Given the description of an element on the screen output the (x, y) to click on. 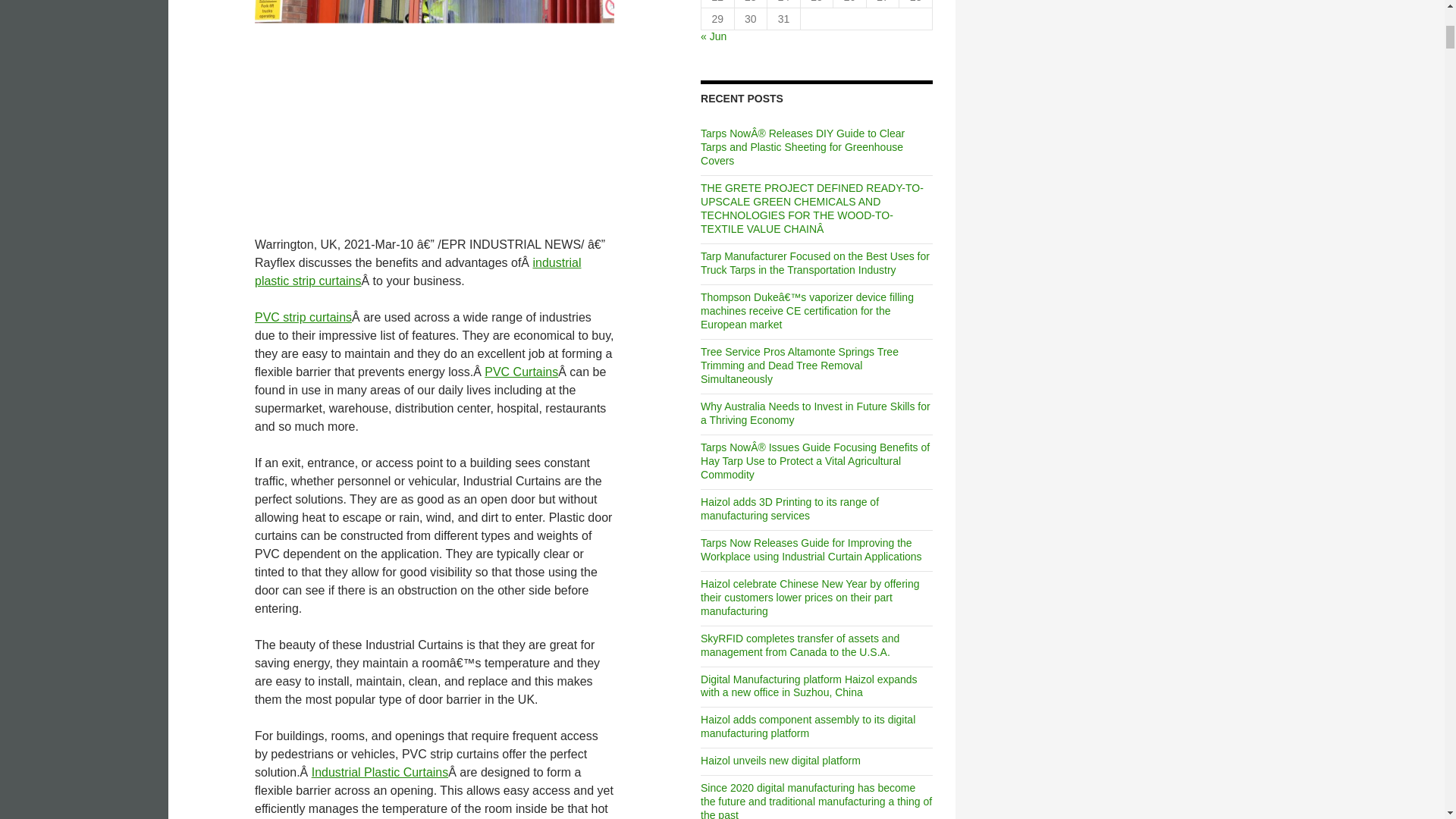
industrial plastic strip curtains (417, 271)
PVC strip curtains (303, 317)
PVC Curtains (520, 371)
Industrial Plastic Curtains (379, 771)
